Given the description of an element on the screen output the (x, y) to click on. 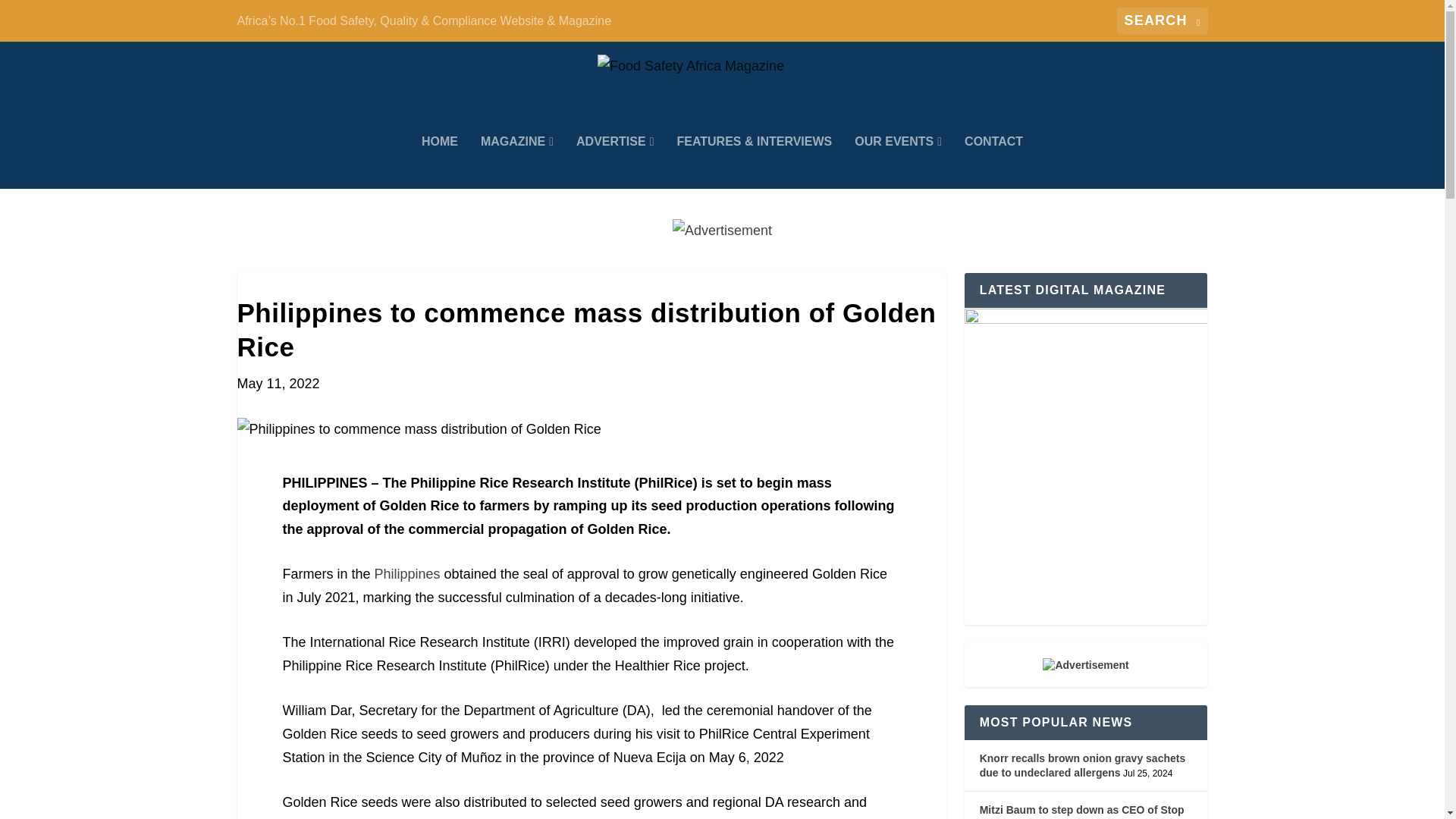
MAGAZINE (516, 162)
OUR EVENTS (898, 162)
ADVERTISE (614, 162)
Philippines (407, 573)
CONTACT (993, 162)
Search for: (1161, 20)
